Given the description of an element on the screen output the (x, y) to click on. 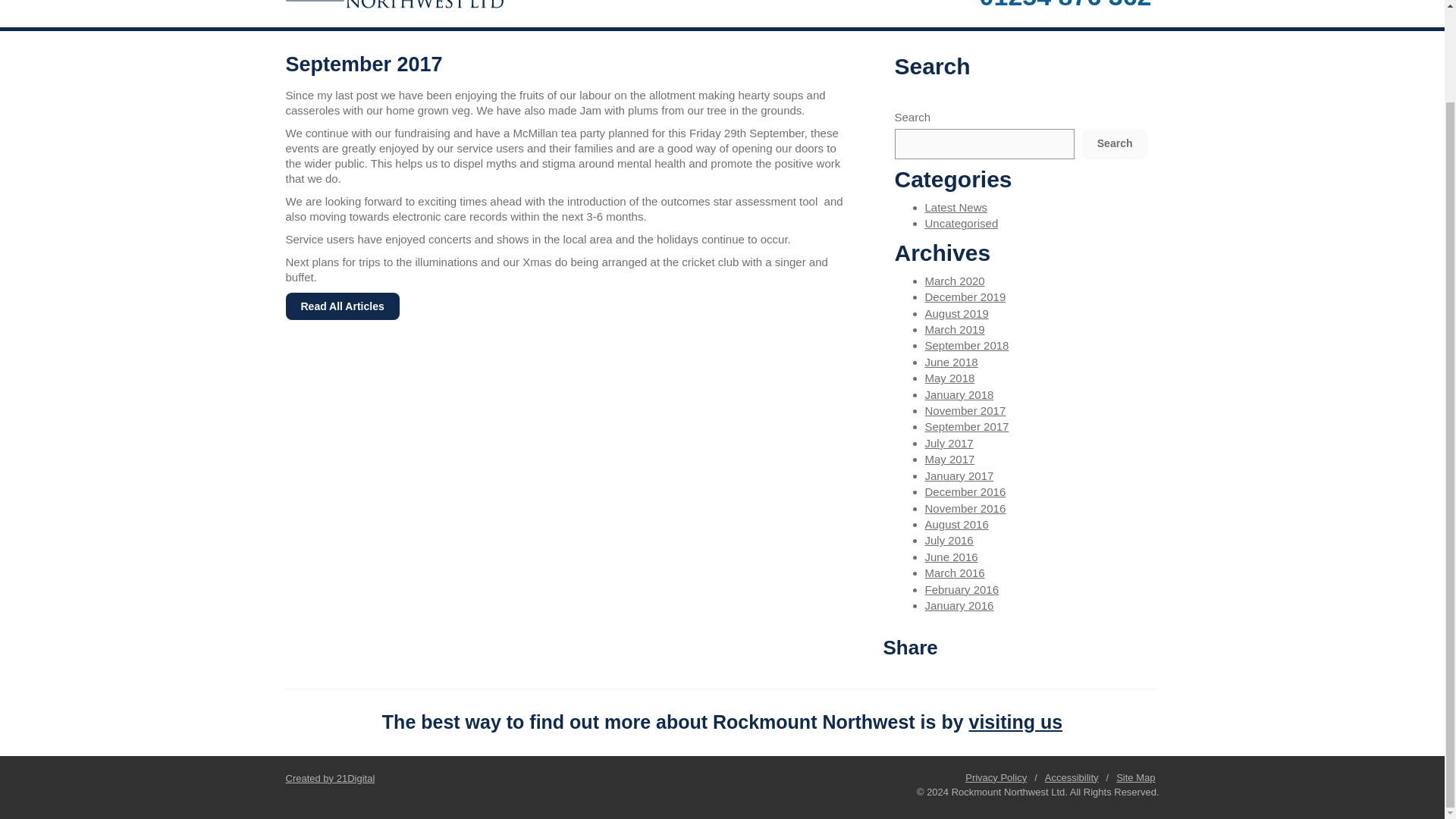
Latest News (956, 206)
May 2017 (949, 459)
July 2016 (949, 540)
Search (1114, 143)
visiting us (1015, 721)
Accessibility (1072, 777)
Created by 21Digital (329, 778)
December 2016 (965, 491)
March 2020 (954, 280)
January 2016 (959, 604)
